Given the description of an element on the screen output the (x, y) to click on. 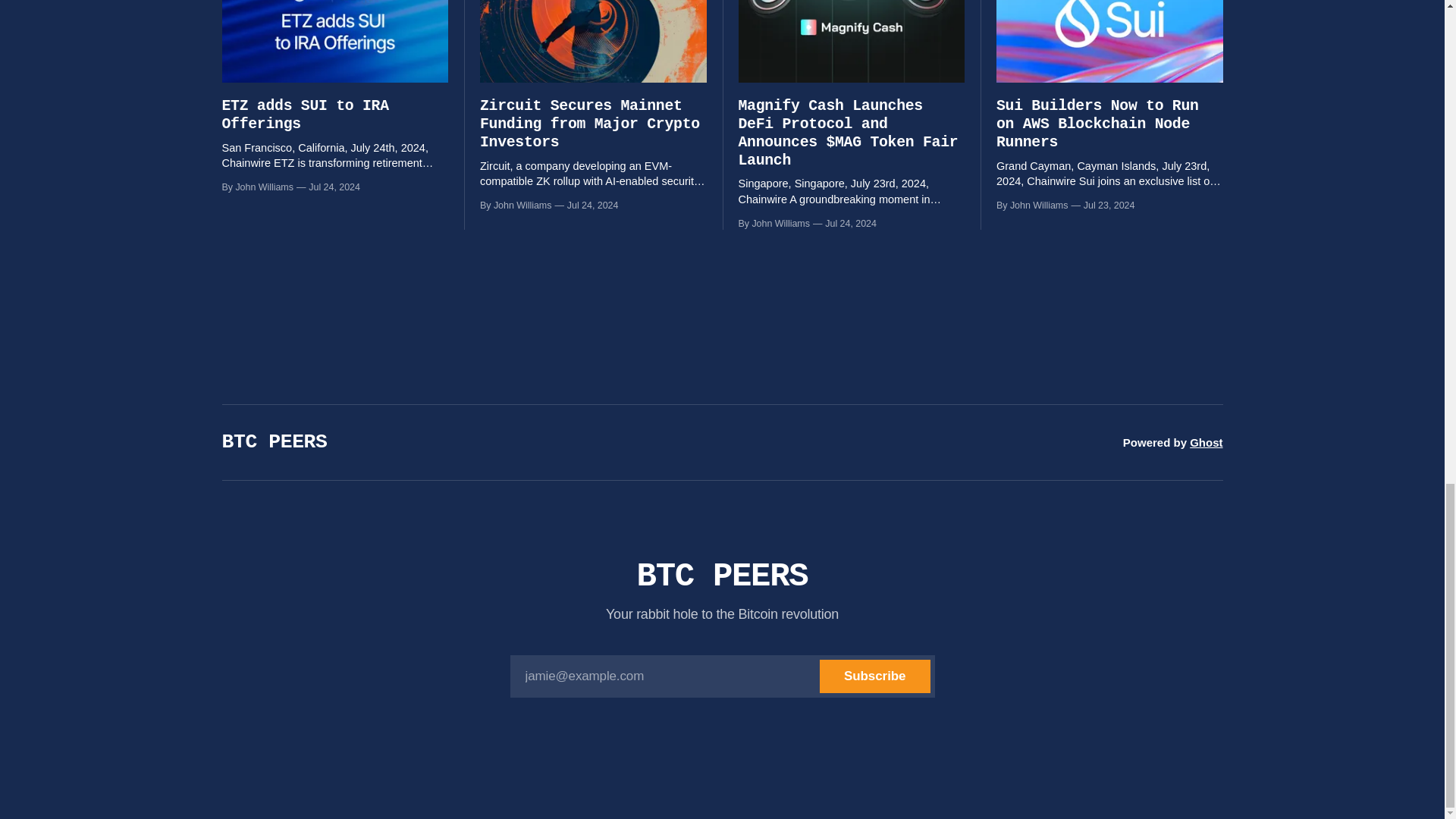
Subscribe (874, 676)
Ghost (1206, 441)
